Given the description of an element on the screen output the (x, y) to click on. 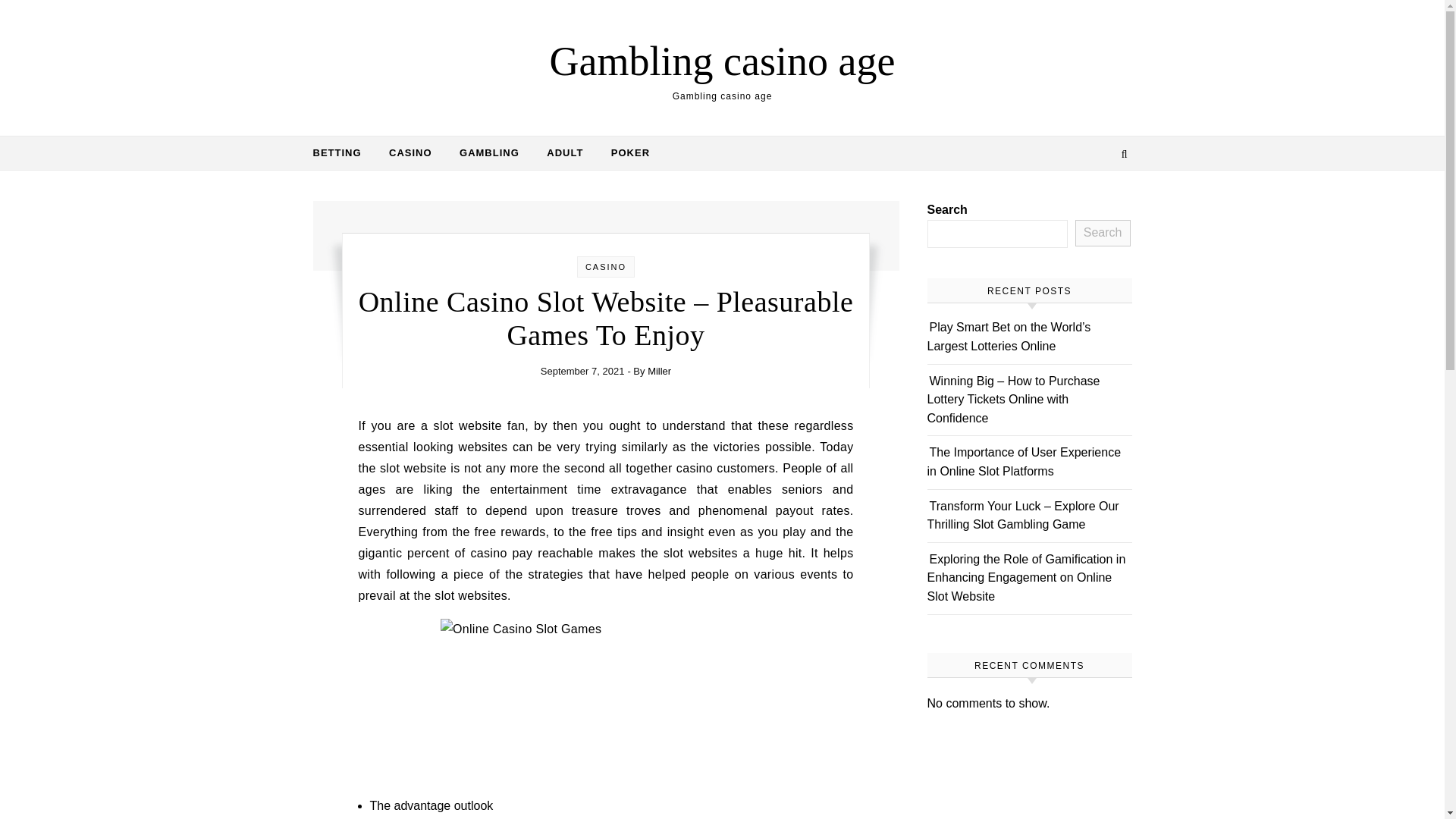
ADULT (564, 152)
GAMBLING (488, 152)
Posts by Miller (659, 370)
Search (1103, 233)
CASINO (605, 266)
The Importance of User Experience in Online Slot Platforms (1023, 461)
POKER (623, 152)
Miller (659, 370)
Gambling casino age (722, 61)
